Given the description of an element on the screen output the (x, y) to click on. 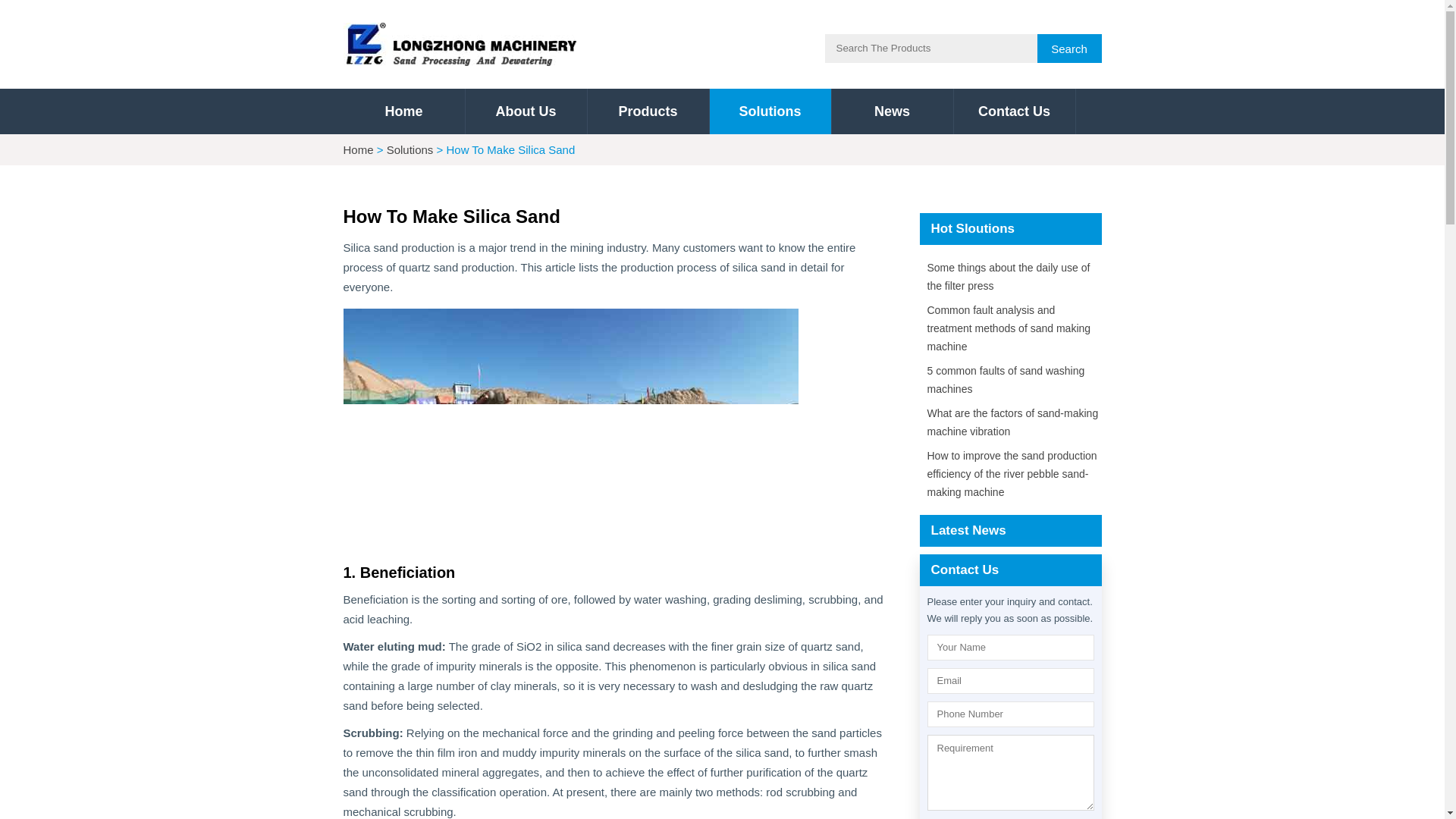
5 common faults of sand washing machines (1009, 379)
What are the factors of sand-making machine vibration (1009, 422)
5 common faults of sand washing machines (1009, 379)
Home (403, 111)
Contact Us (1014, 111)
Search (1069, 48)
Some things about the daily use of the filter press (1009, 276)
Search (1069, 48)
